Given the description of an element on the screen output the (x, y) to click on. 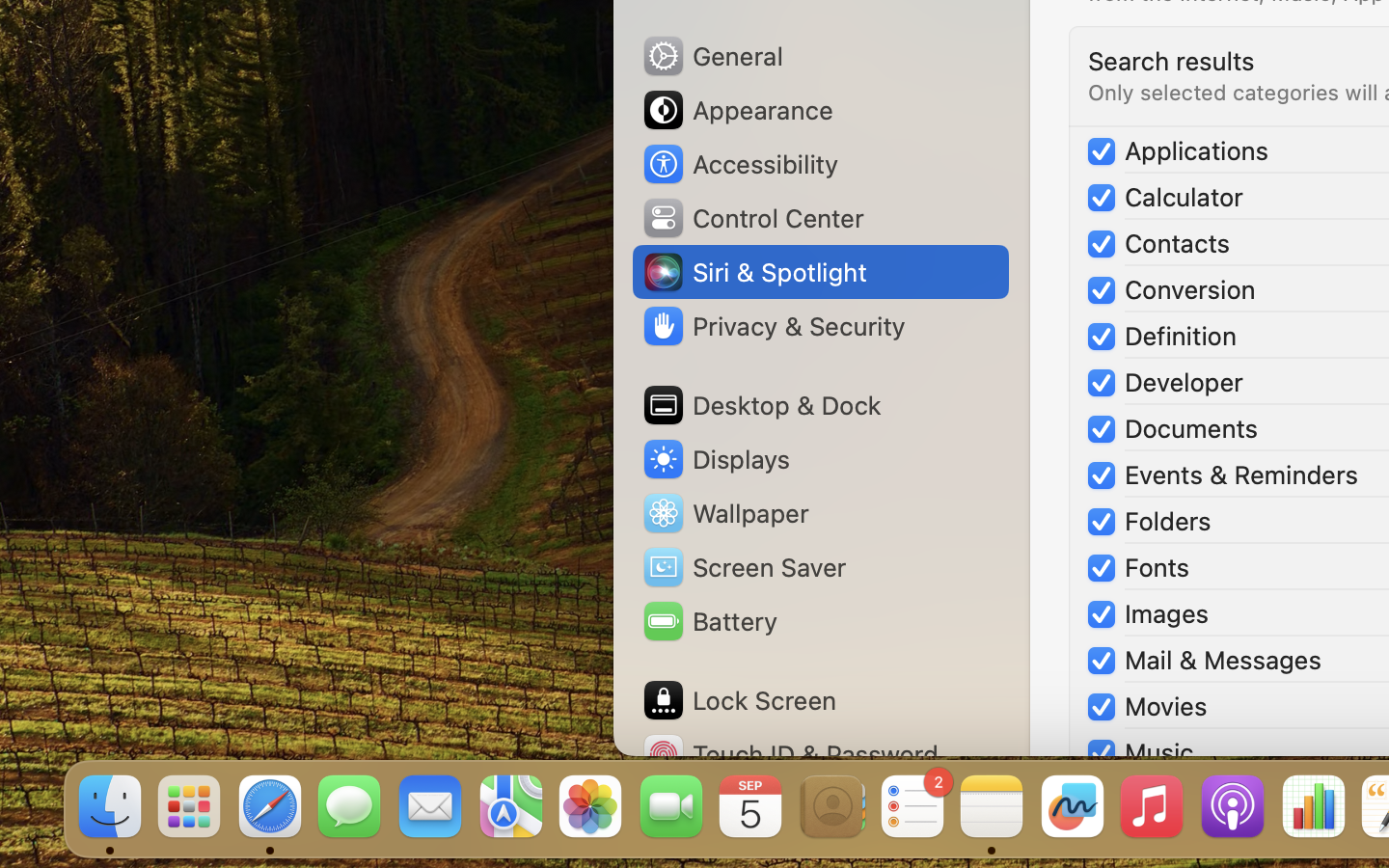
Battery Element type: AXStaticText (708, 620)
Desktop & Dock Element type: AXStaticText (760, 404)
Search results Element type: AXStaticText (1170, 59)
Touch ID & Password Element type: AXStaticText (789, 754)
Control Center Element type: AXStaticText (752, 217)
